Given the description of an element on the screen output the (x, y) to click on. 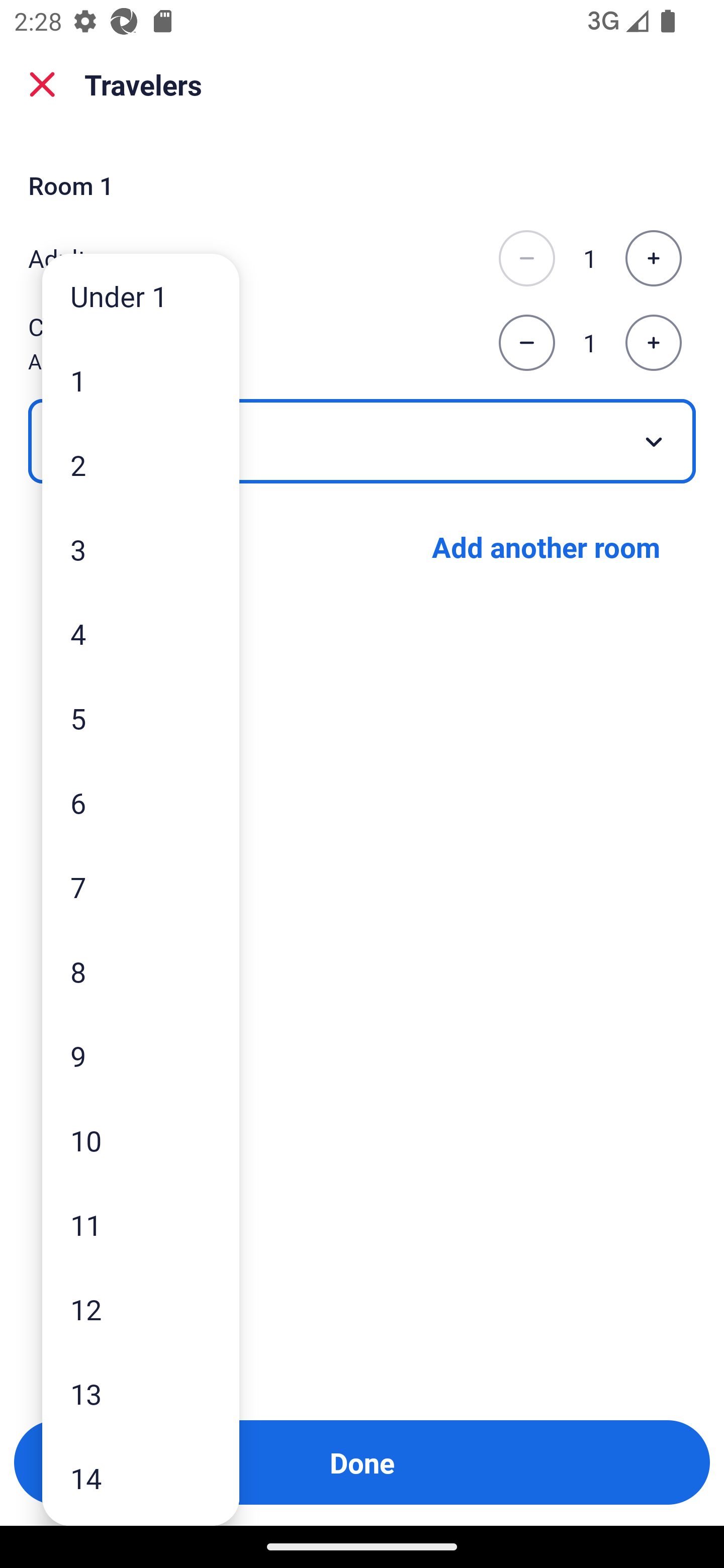
Under 1 (140, 296)
1 (140, 380)
2 (140, 464)
3 (140, 548)
4 (140, 633)
5 (140, 717)
6 (140, 802)
7 (140, 887)
8 (140, 970)
9 (140, 1054)
10 (140, 1139)
11 (140, 1224)
12 (140, 1308)
13 (140, 1393)
14 (140, 1478)
